Given the description of an element on the screen output the (x, y) to click on. 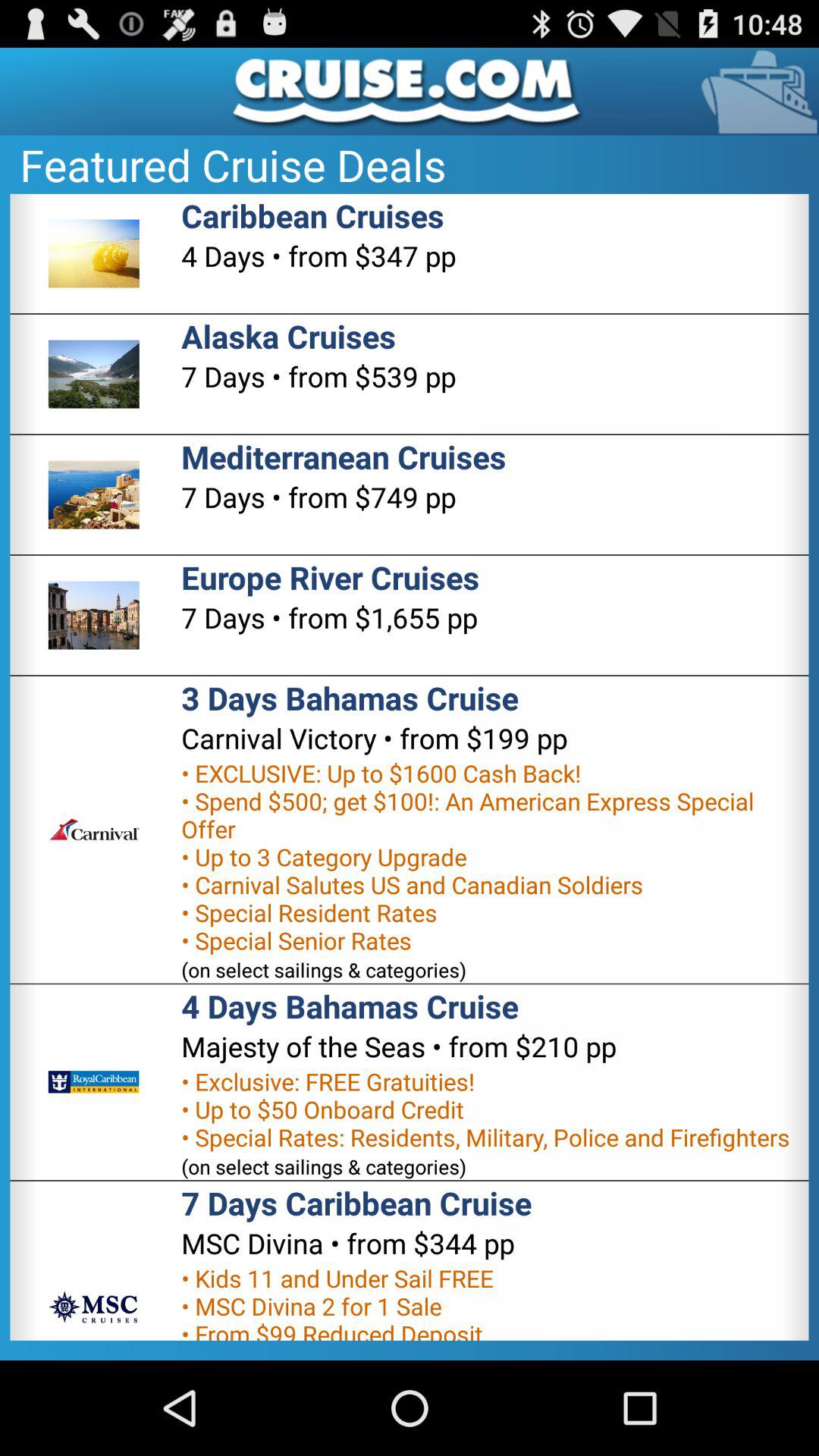
tap icon above 4 days from icon (312, 215)
